Given the description of an element on the screen output the (x, y) to click on. 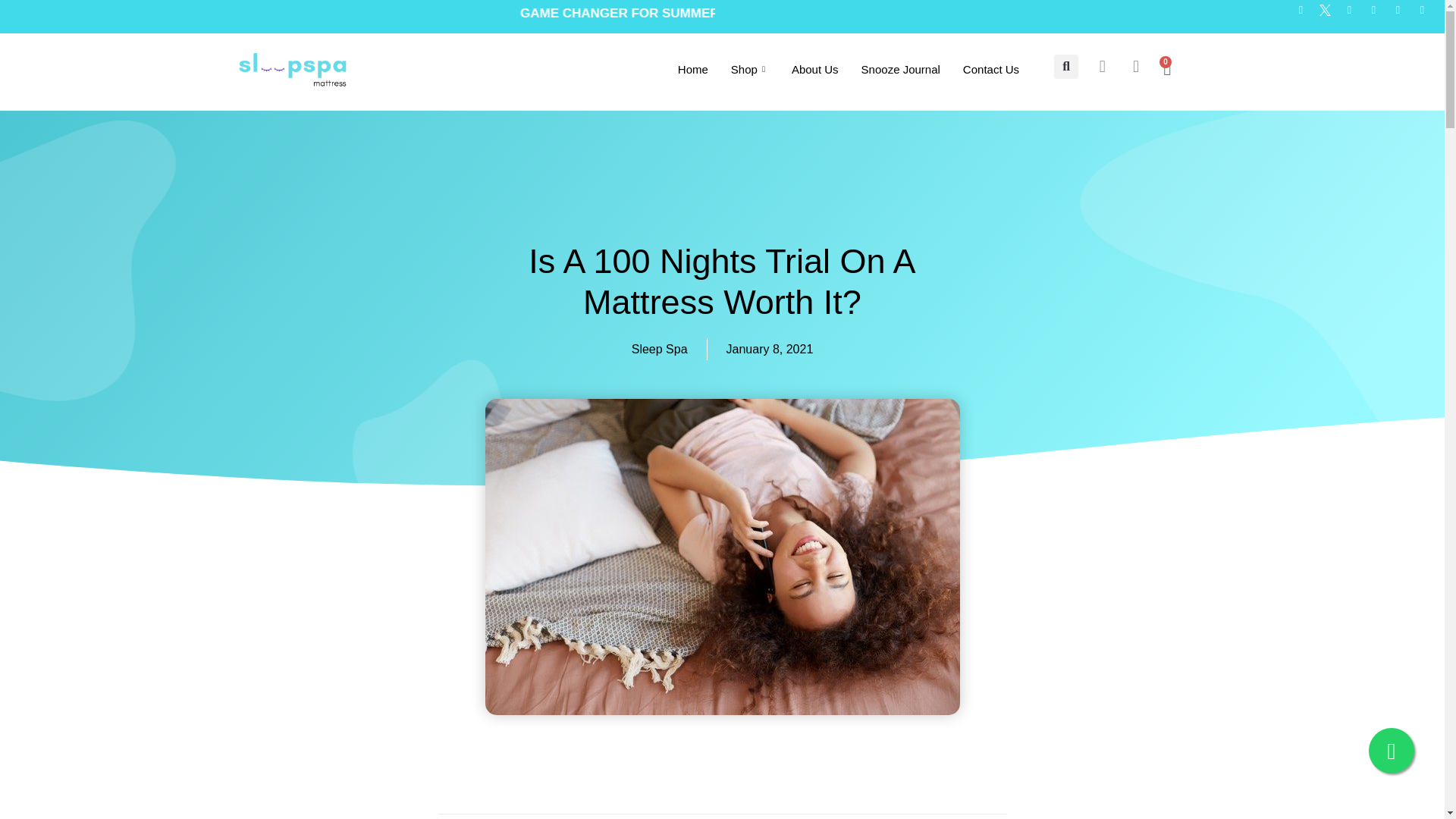
Pinterest (1378, 14)
Facebook (1305, 14)
Home (692, 69)
Instagram (1353, 14)
Youtube (1426, 14)
Linkedin (1401, 14)
